Given the description of an element on the screen output the (x, y) to click on. 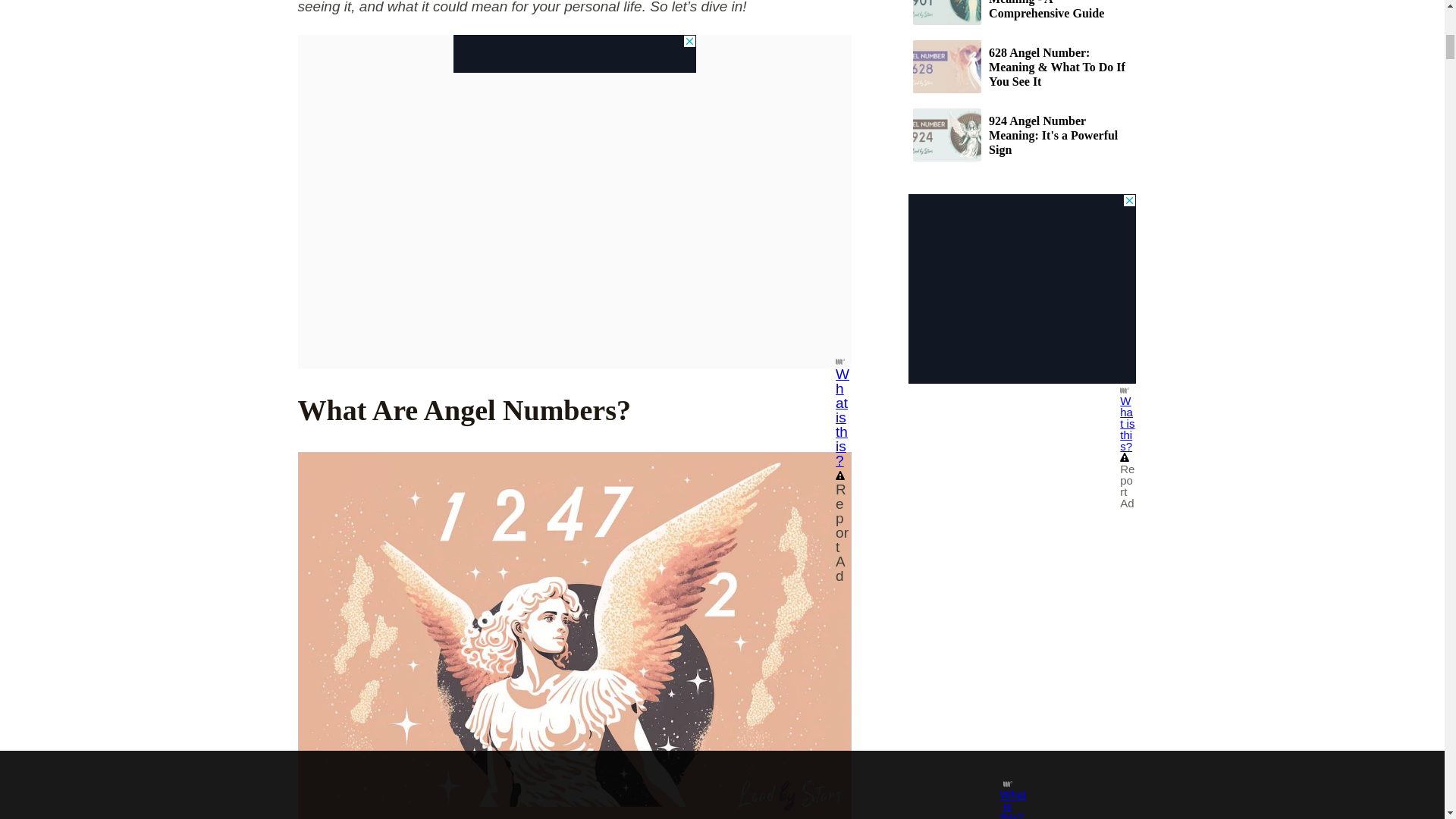
3rd party ad content (573, 53)
924 Angel Number Meaning: It's a Powerful Sign (1021, 134)
901 Angel Number Meaning - A Comprehensive Guide (1021, 12)
